Given the description of an element on the screen output the (x, y) to click on. 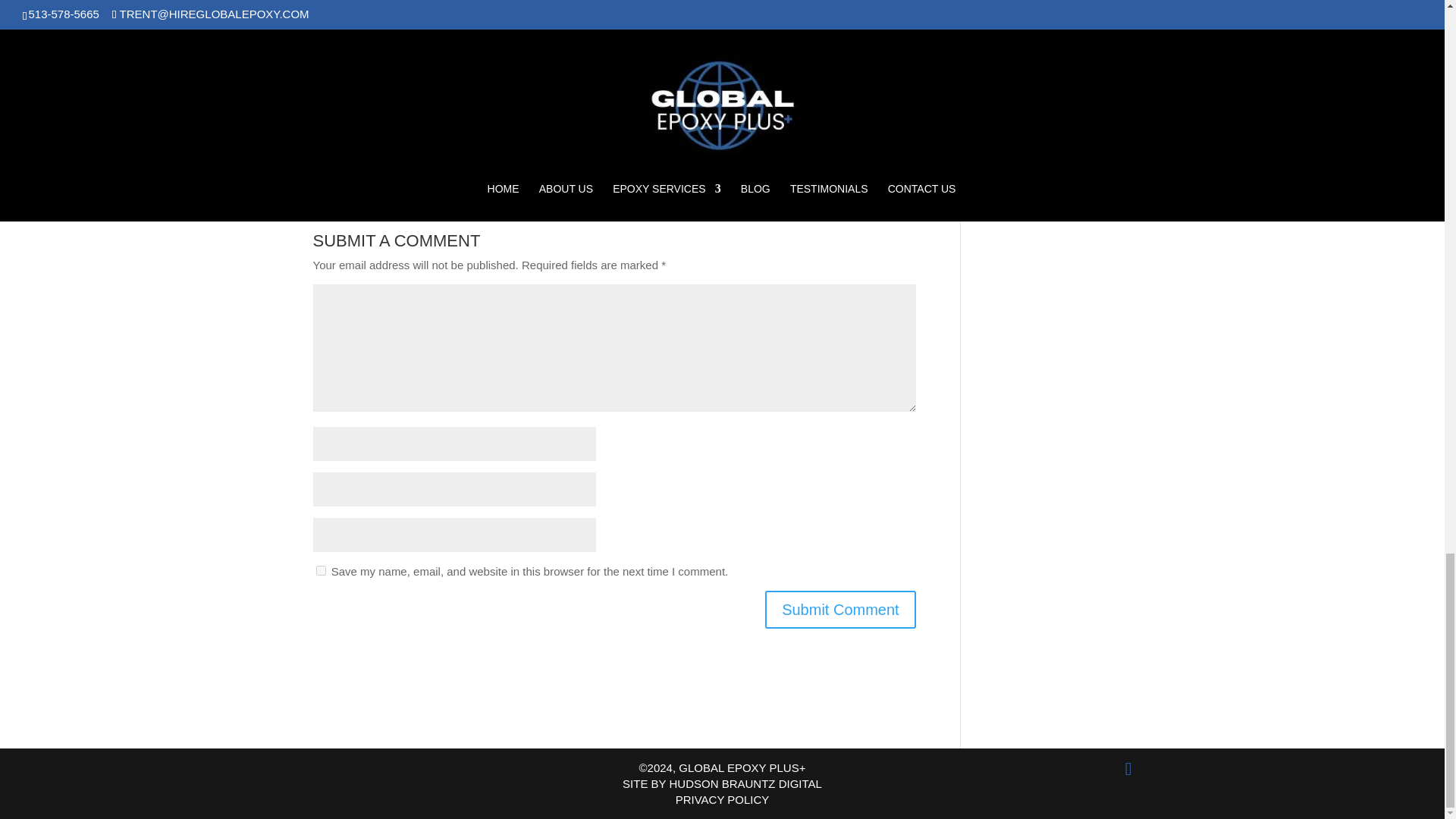
Submit Comment (840, 609)
HUDSON BRAUNTZ DIGITAL (744, 783)
Submit Comment (840, 609)
PRIVACY POLICY (722, 799)
yes (319, 570)
